Given the description of an element on the screen output the (x, y) to click on. 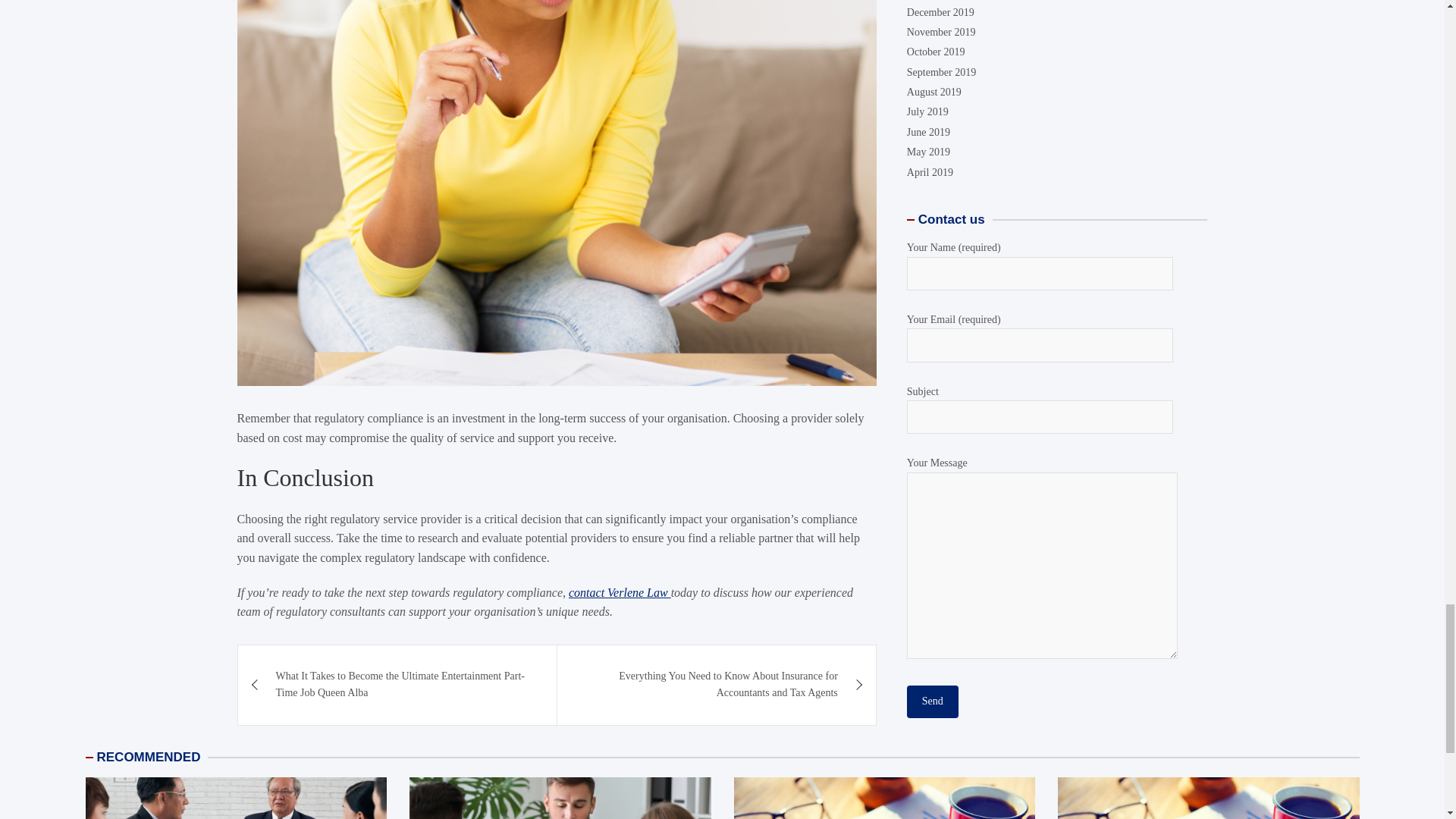
contact Verlene Law (620, 592)
